Given the description of an element on the screen output the (x, y) to click on. 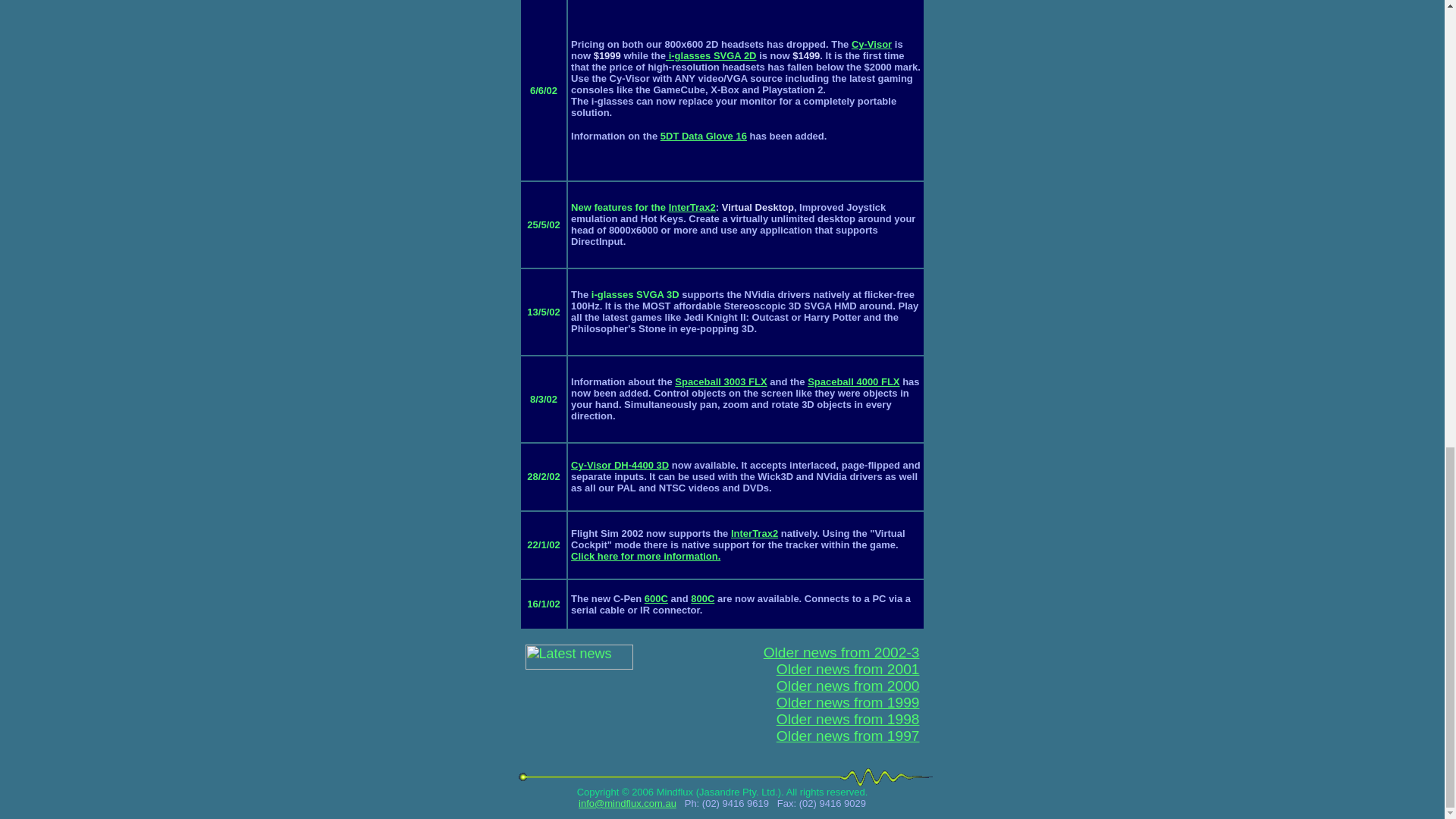
800C (702, 598)
InterTrax2 (692, 206)
Older news from 1998 (848, 727)
i-glasses SVGA 2D (710, 55)
Older news from 200 (830, 652)
600C (656, 598)
2-3 (909, 652)
InterTrax2 (753, 532)
Older news from 2001 (848, 668)
Cy-Visor DH-4400 3D (619, 464)
5DT Data Glove 16 (703, 135)
Spaceball 4000 FLX (853, 381)
Click here for more information. (645, 555)
Cy-Visor (871, 43)
Older news from 1999 (848, 703)
